Given the description of an element on the screen output the (x, y) to click on. 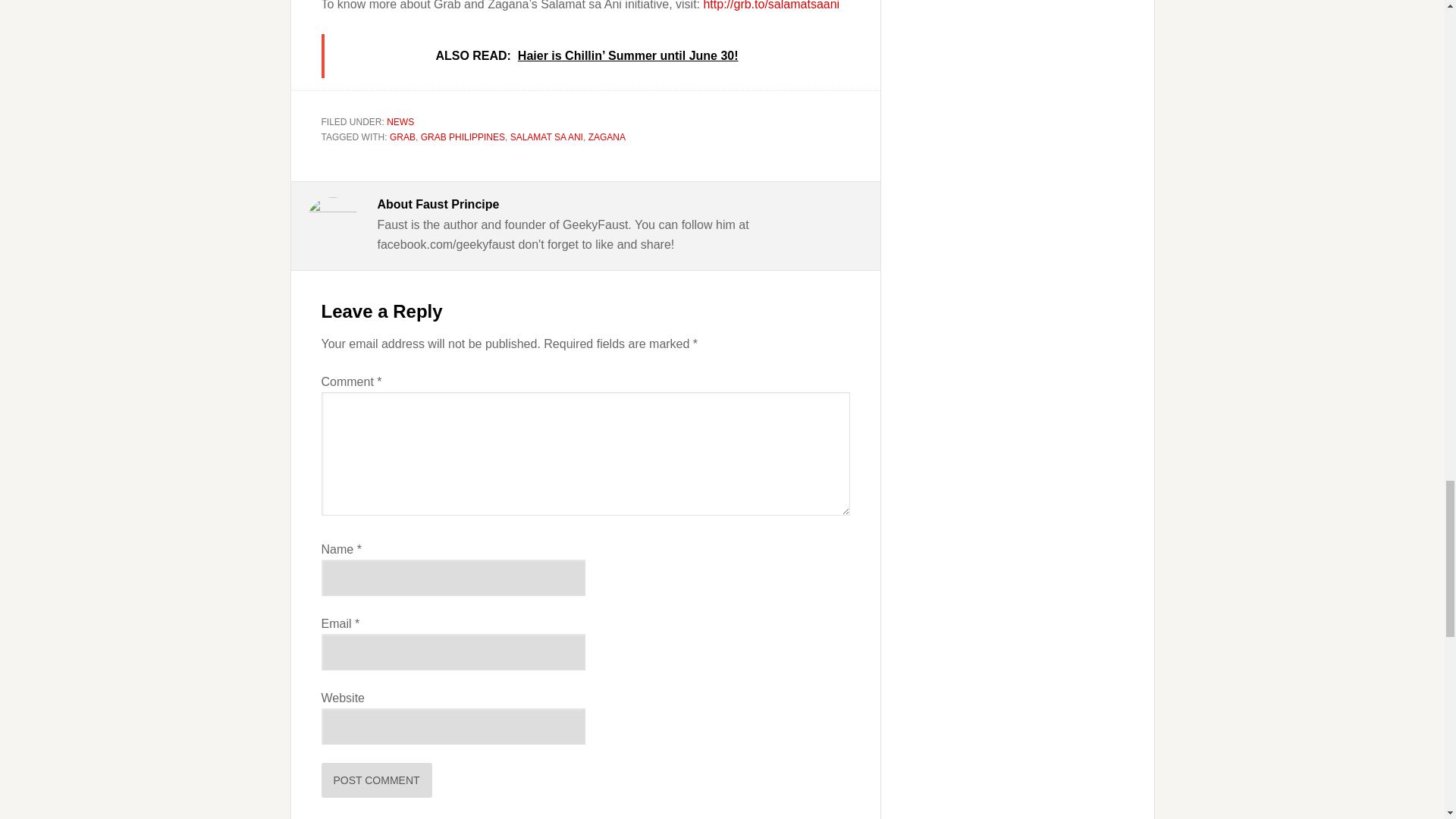
SALAMAT SA ANI (547, 136)
Post Comment (376, 779)
GRAB (402, 136)
GRAB PHILIPPINES (462, 136)
NEWS (400, 122)
ZAGANA (607, 136)
Post Comment (376, 779)
